Given the description of an element on the screen output the (x, y) to click on. 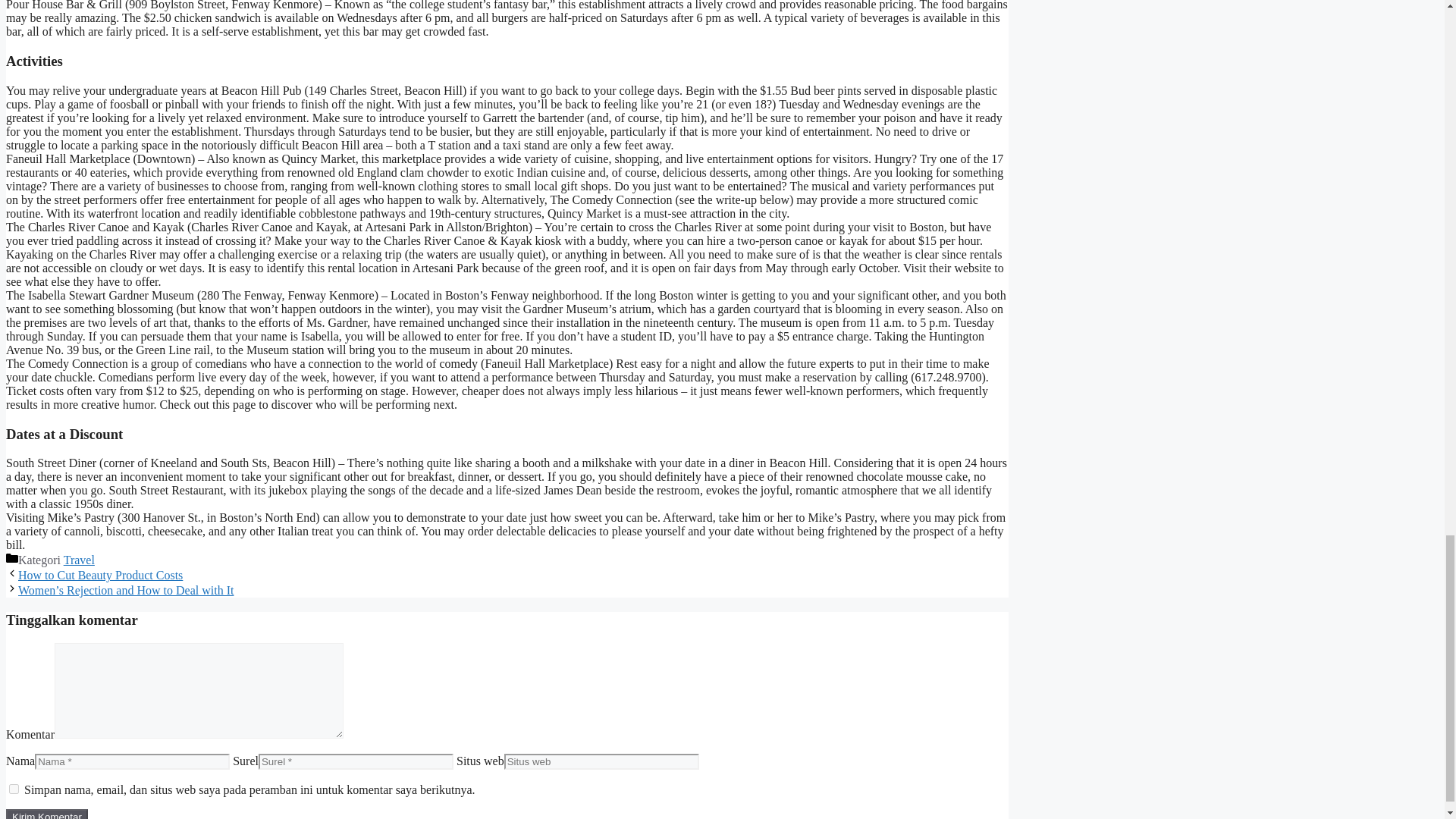
yes (13, 788)
How to Cut Beauty Product Costs (100, 574)
Travel (79, 559)
